Given the description of an element on the screen output the (x, y) to click on. 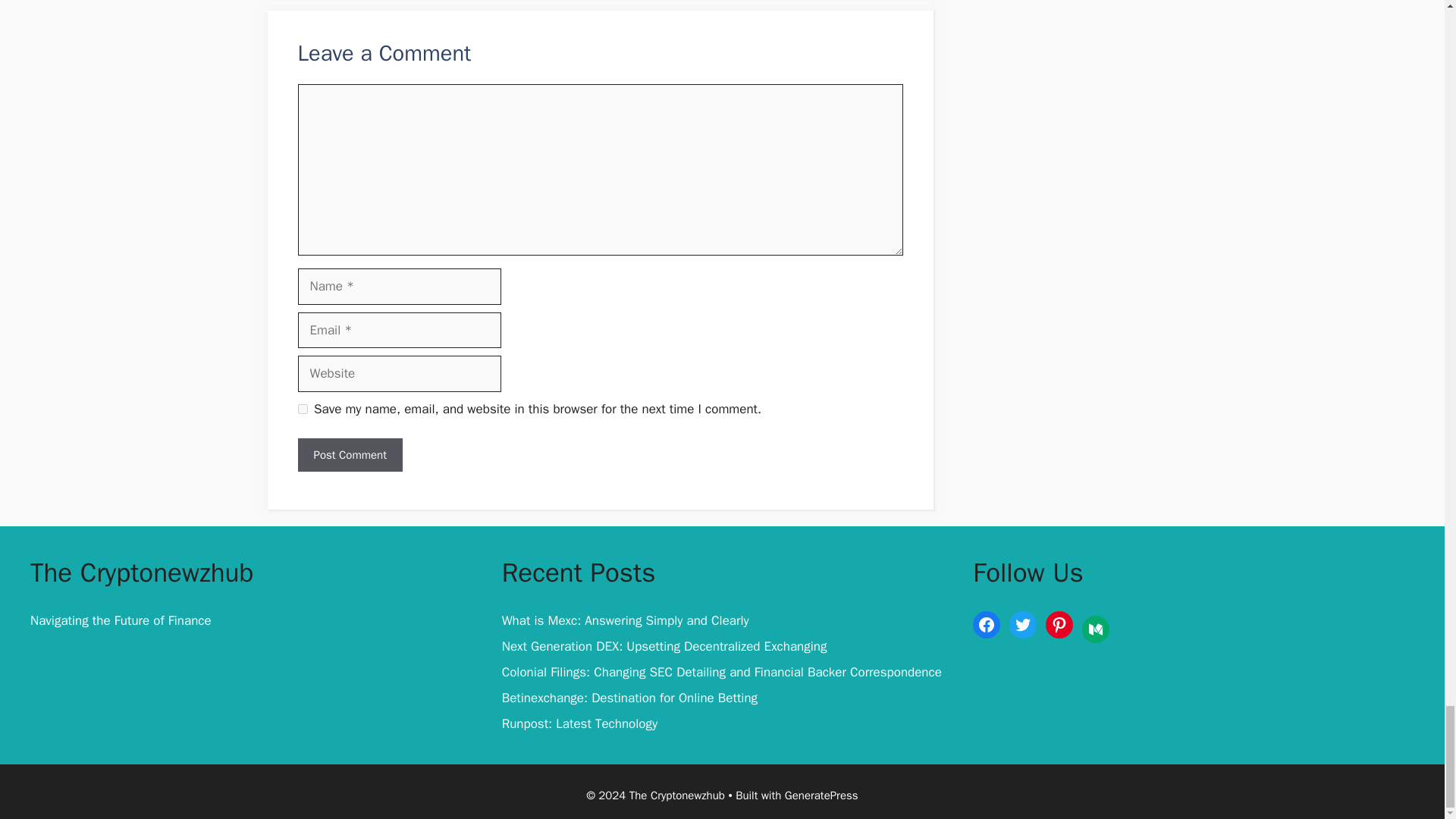
Post Comment (349, 455)
yes (302, 409)
Post Comment (349, 455)
